Given the description of an element on the screen output the (x, y) to click on. 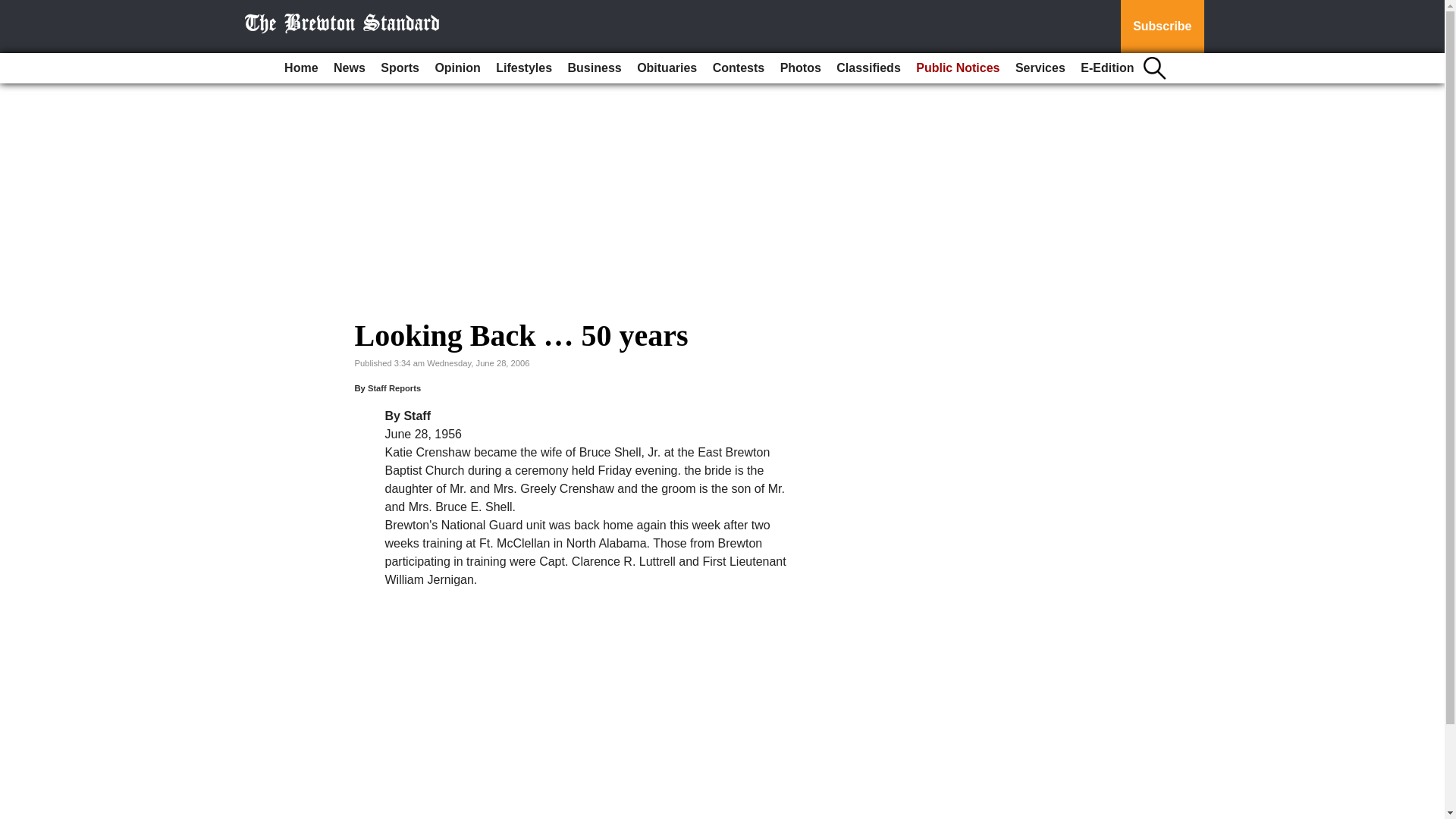
Services (1040, 68)
Subscribe (1162, 26)
Staff Reports (394, 388)
Contests (738, 68)
News (349, 68)
Home (300, 68)
Public Notices (958, 68)
Go (13, 9)
Opinion (457, 68)
Business (594, 68)
